Given the description of an element on the screen output the (x, y) to click on. 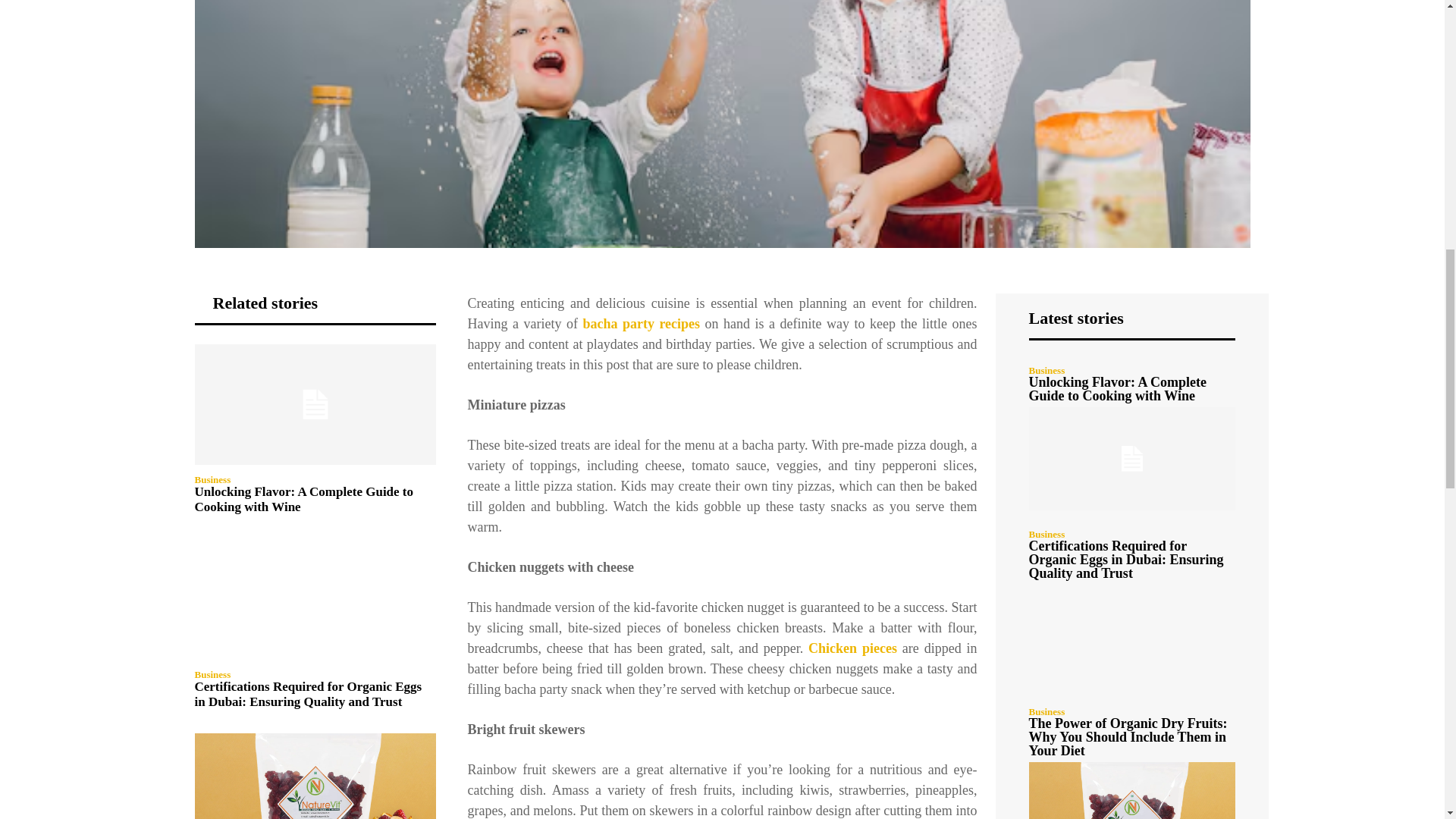
Business (211, 674)
Unlocking Flavor: A Complete Guide to Cooking with Wine (314, 404)
Unlocking Flavor: A Complete Guide to Cooking with Wine (303, 499)
Business (211, 479)
Unlocking Flavor: A Complete Guide to Cooking with Wine (303, 499)
